Given the description of an element on the screen output the (x, y) to click on. 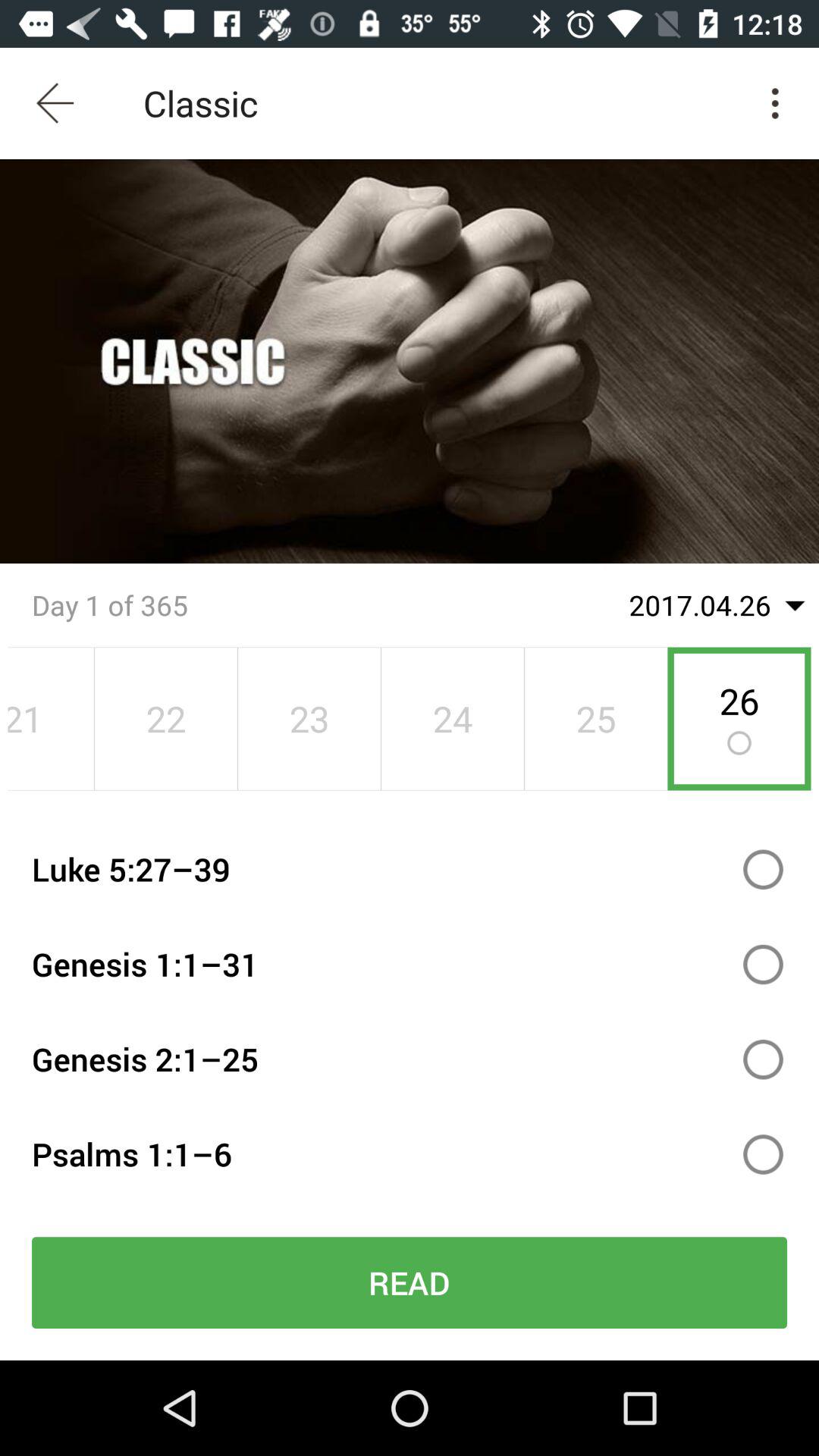
click on genesis 1:1-31 to select (763, 964)
